Given the description of an element on the screen output the (x, y) to click on. 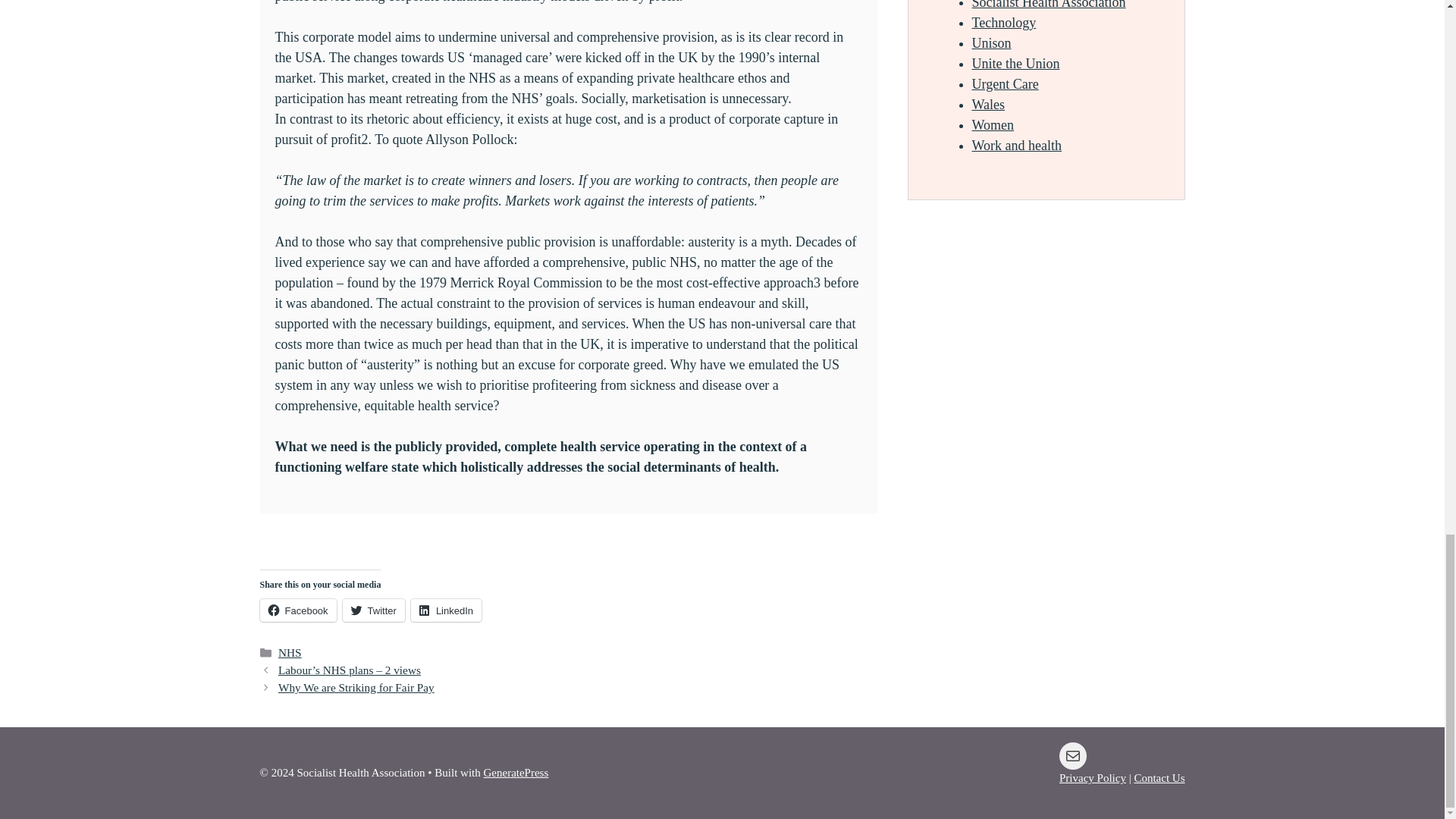
Twitter (373, 609)
Click to share on Facebook (297, 609)
Click to share on Twitter (373, 609)
Click to share on LinkedIn (445, 609)
Facebook (297, 609)
LinkedIn (445, 609)
Why We are Striking for Fair Pay (355, 686)
NHS (289, 652)
